Given the description of an element on the screen output the (x, y) to click on. 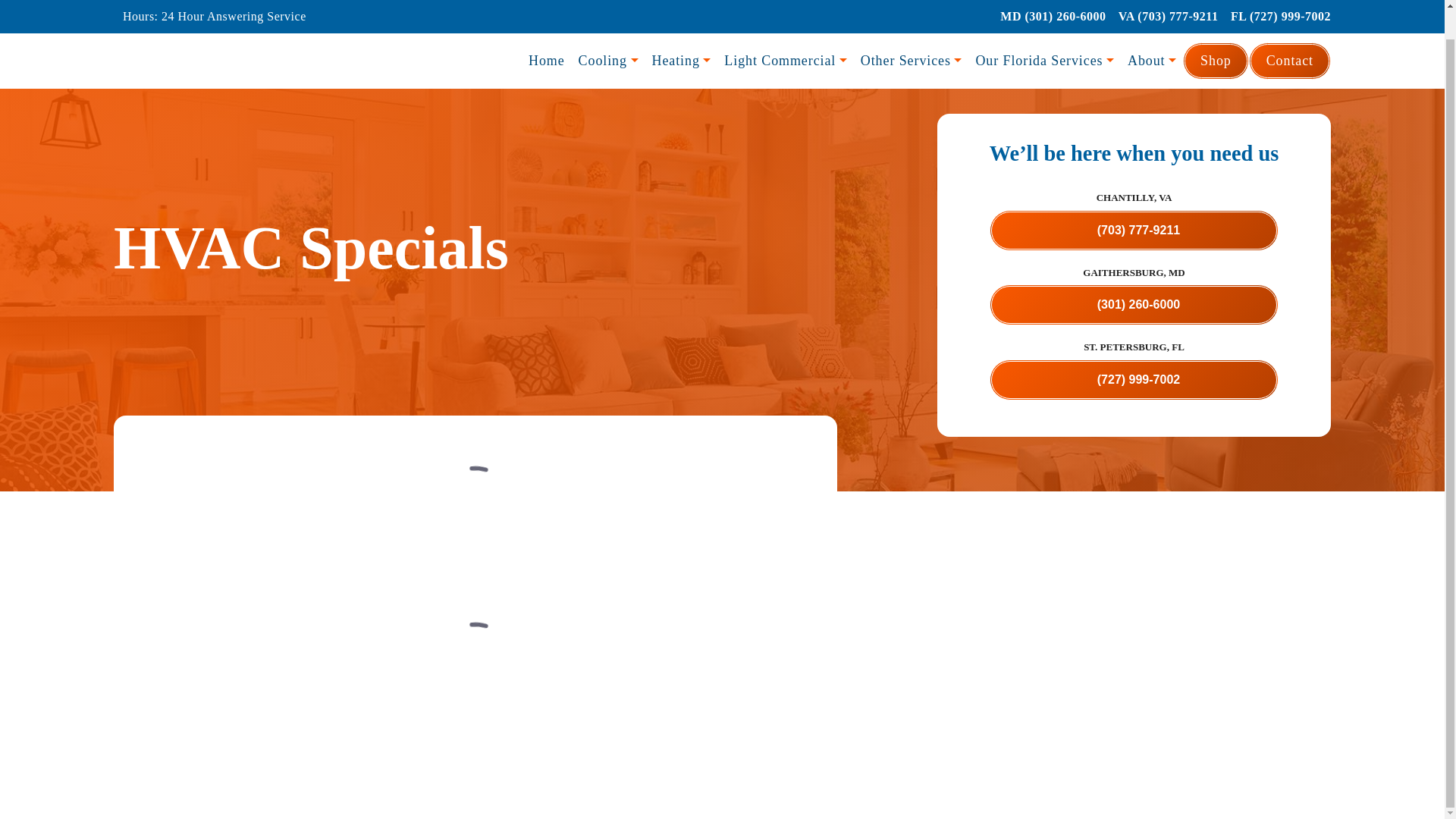
Our Florida Services (1044, 30)
Other Services (911, 30)
Light Commercial (785, 30)
Home (546, 30)
Heating (681, 30)
Cooling (608, 30)
